Given the description of an element on the screen output the (x, y) to click on. 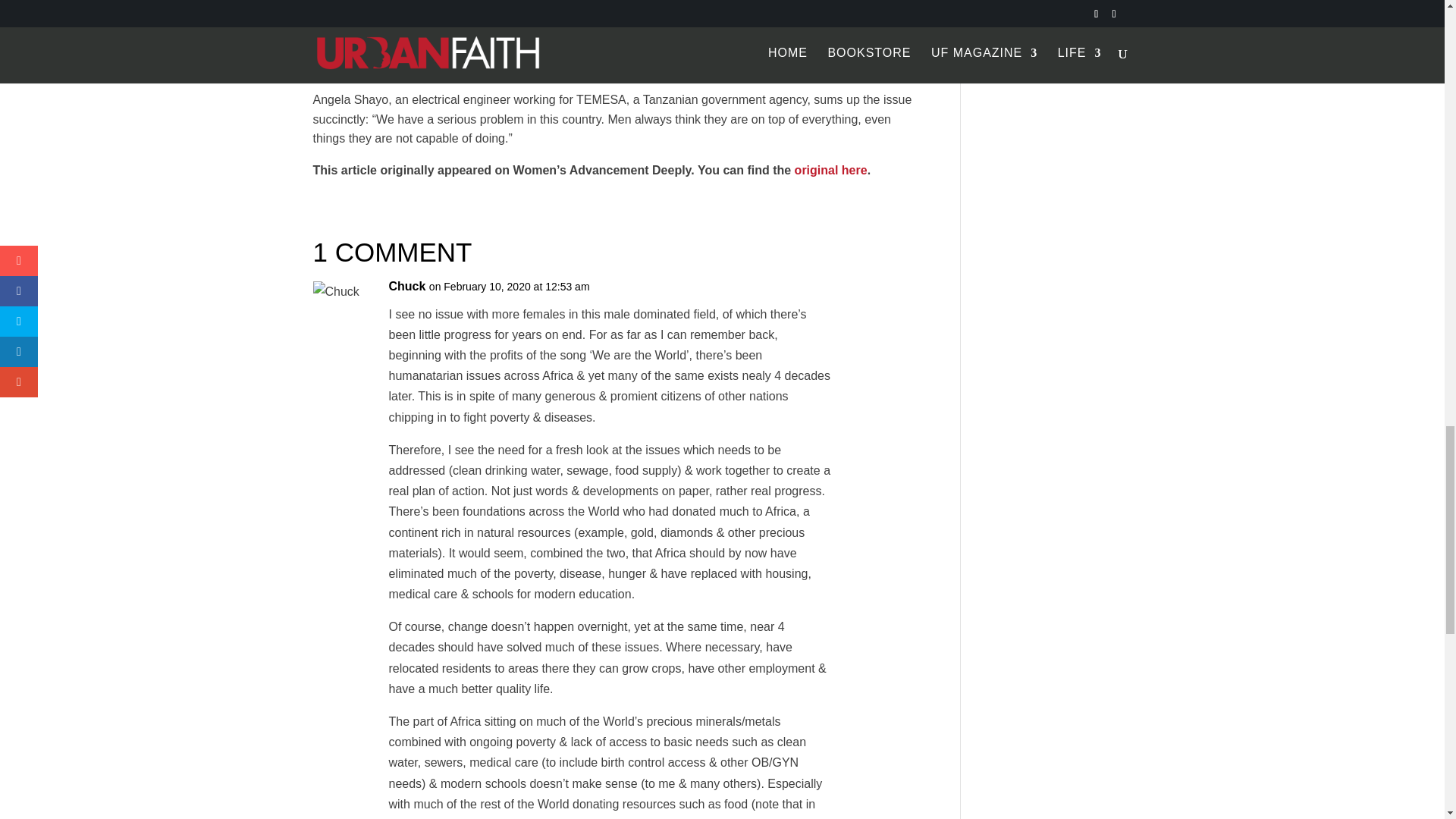
original here (830, 169)
